Given the description of an element on the screen output the (x, y) to click on. 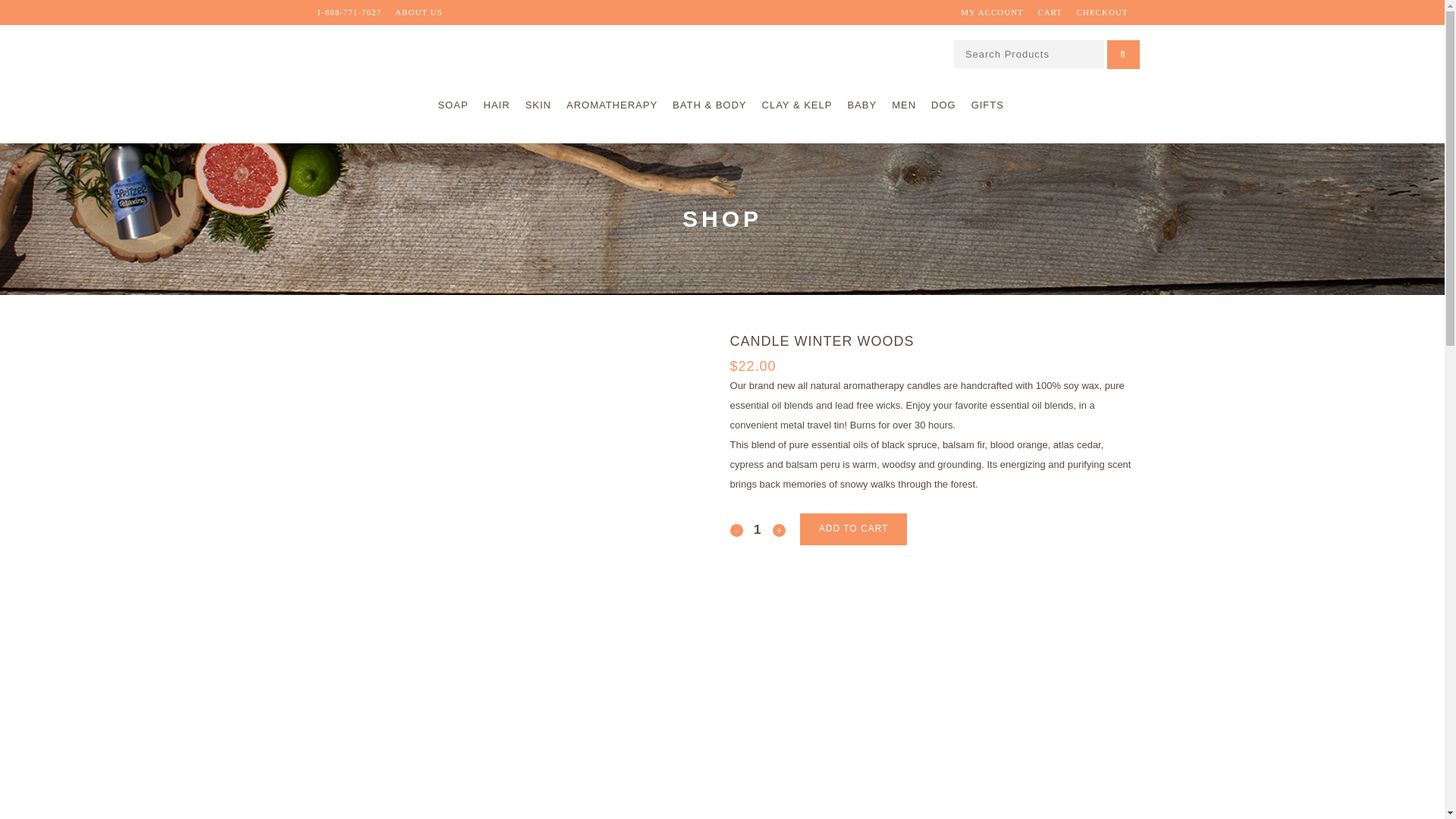
CART (1048, 11)
1 (757, 529)
ABOUT US (418, 11)
- (736, 529)
1-888-771-7627 (349, 11)
CHECKOUT (1102, 11)
AROMATHERAPY (612, 105)
MY ACCOUNT (991, 11)
